Given the description of an element on the screen output the (x, y) to click on. 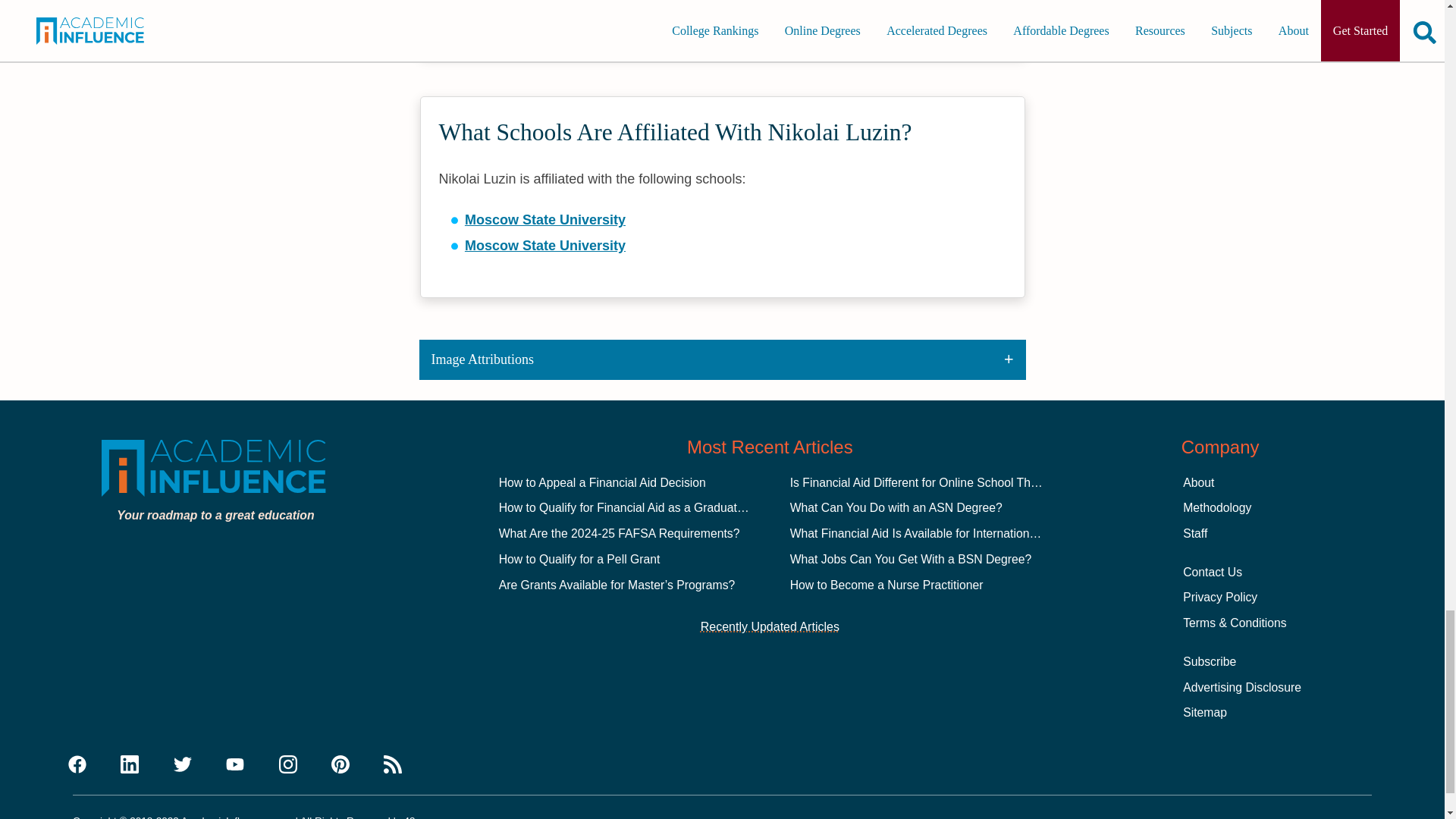
en.wikipedia.org (518, 5)
How to Qualify for Financial Aid as a Graduate Student (644, 507)
How to Qualify for a Pell Grant (580, 558)
What Are the 2024-25 FAFSA Requirements? (619, 533)
How to Appeal a Financial Aid Decision (602, 481)
Moscow State University (545, 245)
Moscow State University (545, 219)
